Given the description of an element on the screen output the (x, y) to click on. 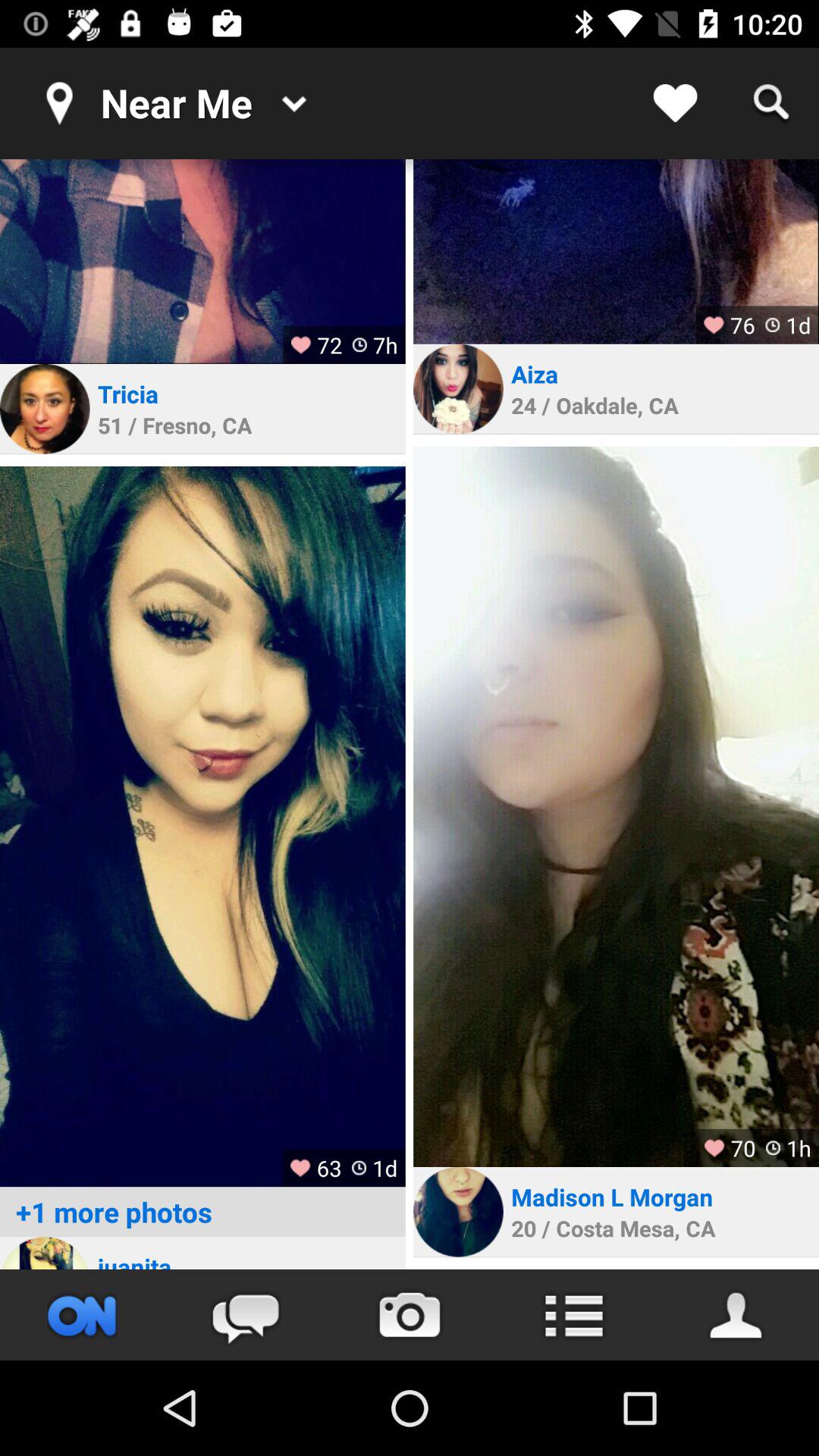
click to profile (44, 408)
